Given the description of an element on the screen output the (x, y) to click on. 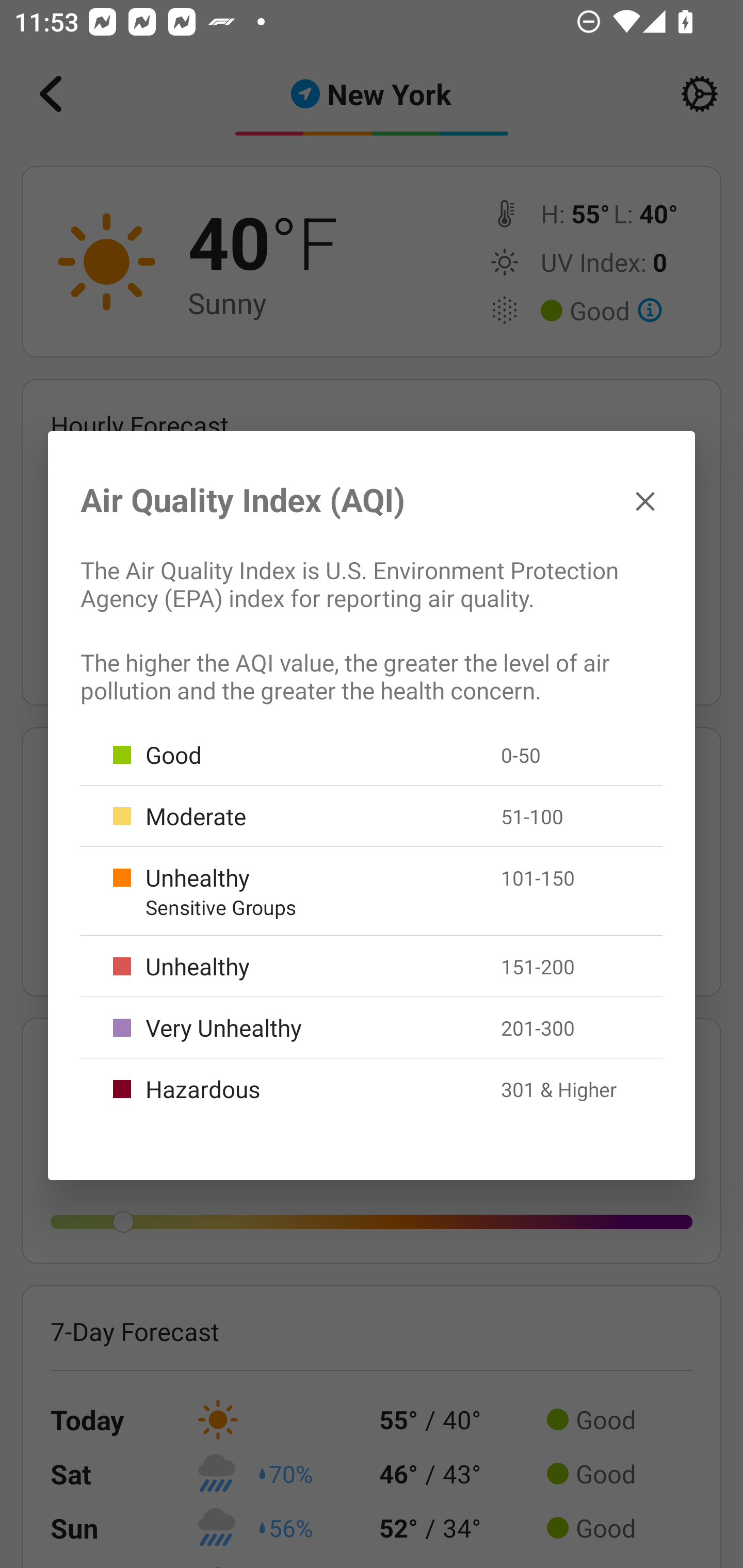
✕ (644, 499)
